Given the description of an element on the screen output the (x, y) to click on. 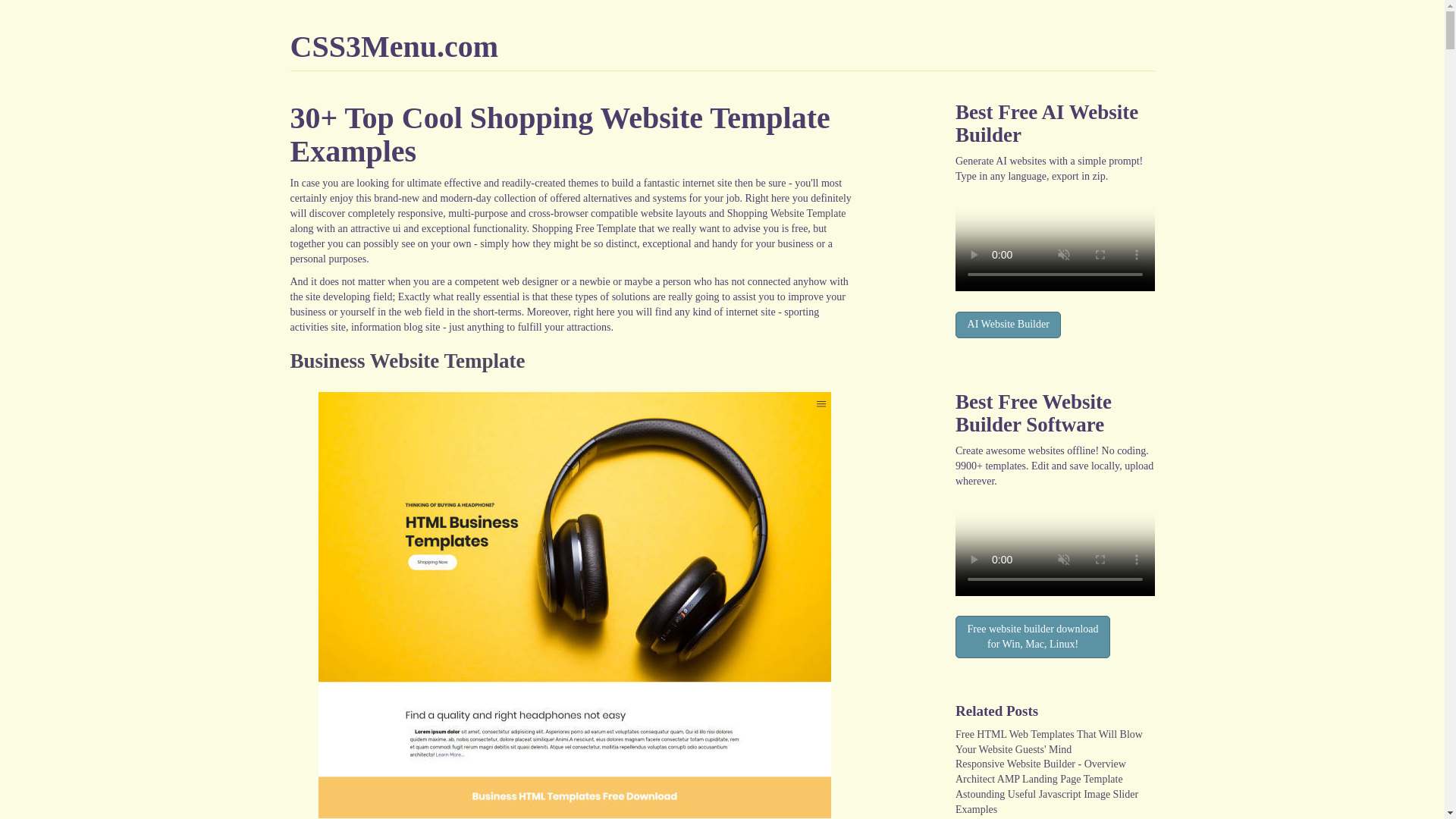
Business Website Template (406, 360)
CSS3Menu.com (393, 46)
Website Template (807, 213)
